Given the description of an element on the screen output the (x, y) to click on. 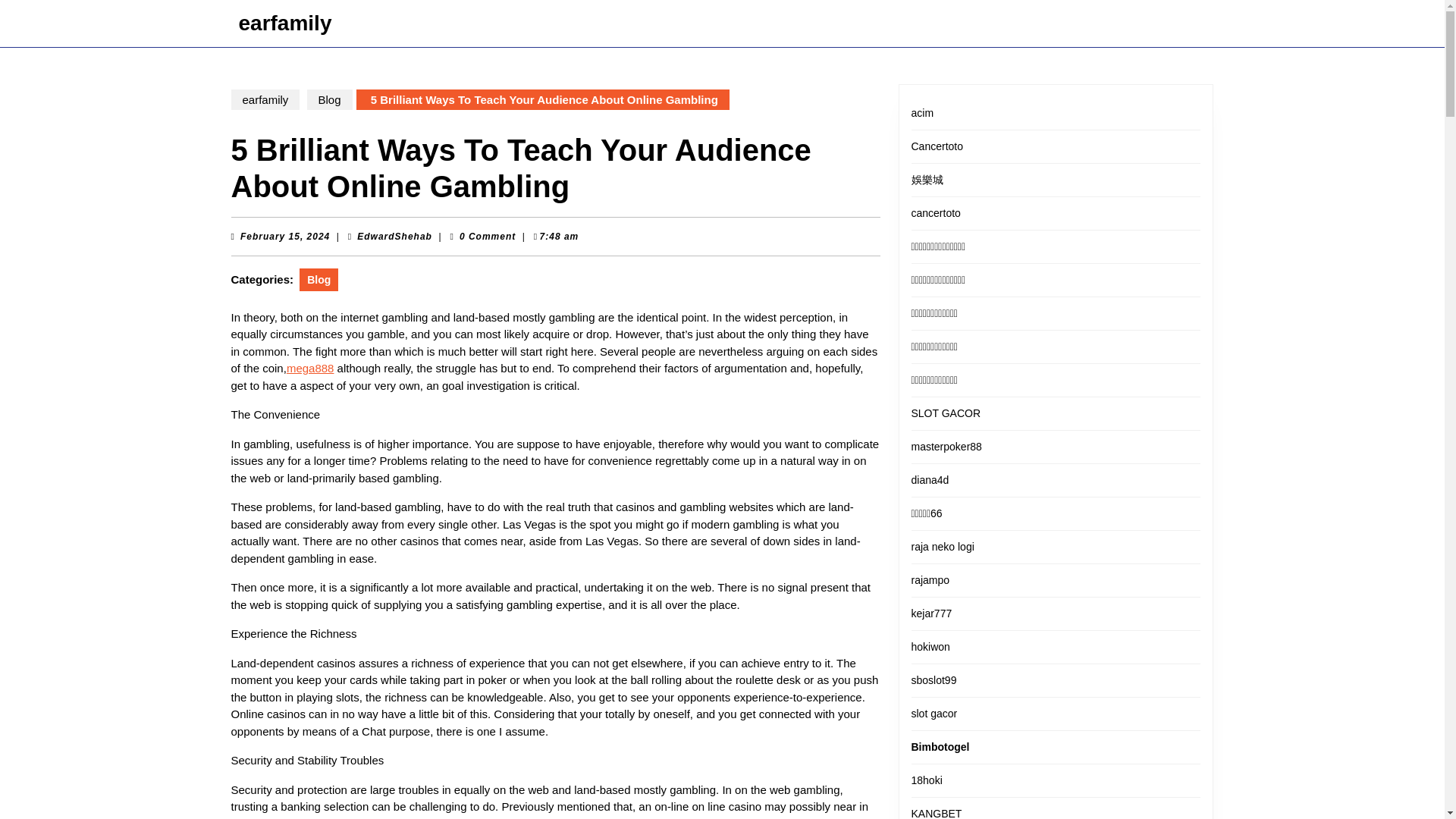
18hoki (926, 779)
cancertoto (935, 213)
kejar777 (931, 613)
raja neko logi (942, 546)
mega888 (310, 367)
hokiwon (930, 646)
acim (285, 235)
earfamily (922, 112)
slot gacor (264, 99)
SLOT GACOR (934, 713)
Cancertoto (946, 413)
earfamily (394, 235)
Blog (936, 146)
